Given the description of an element on the screen output the (x, y) to click on. 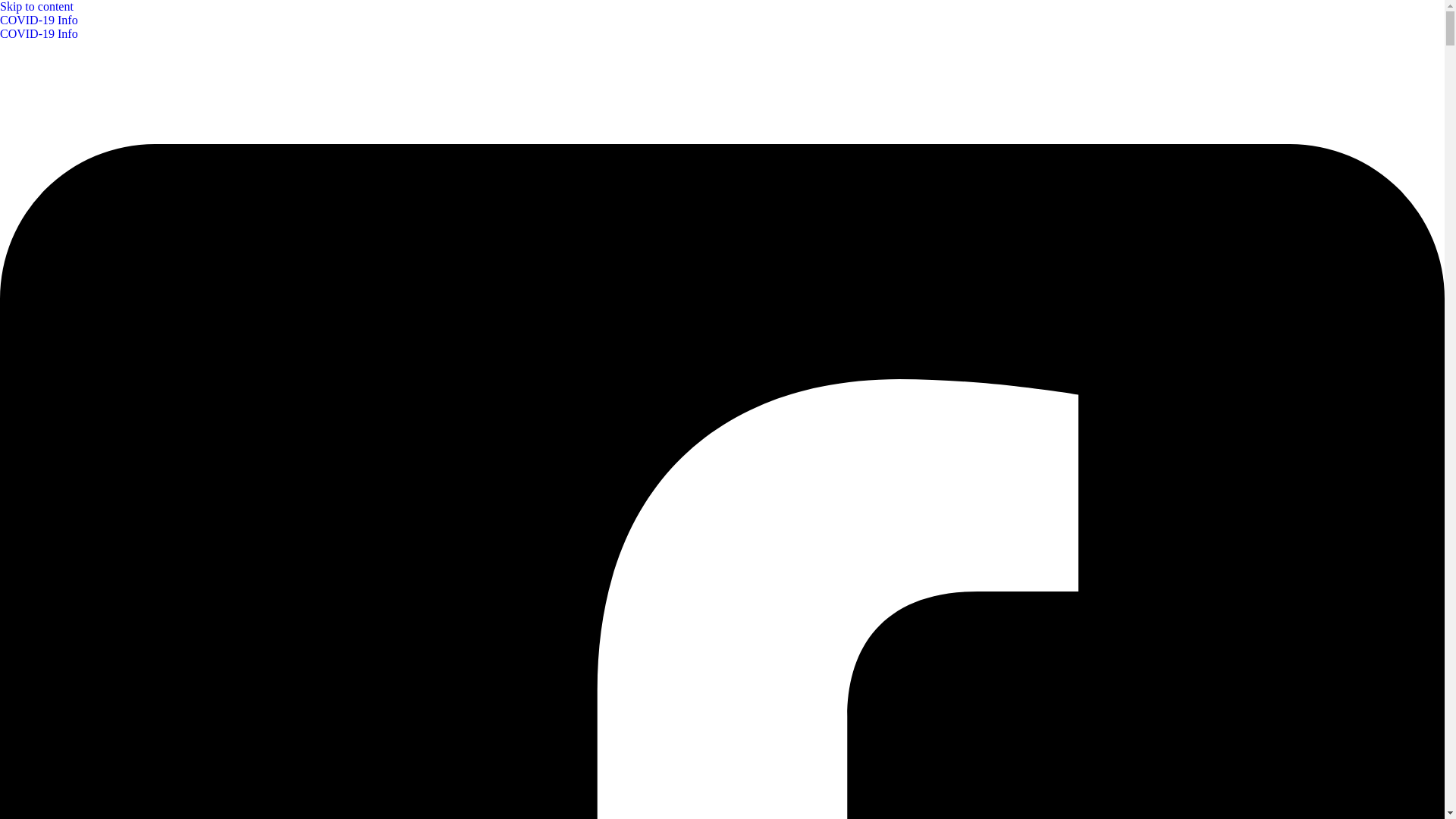
COVID-19 Info Element type: text (722, 26)
Skip to content Element type: text (36, 6)
COVID-19 Info Element type: text (39, 33)
